Given the description of an element on the screen output the (x, y) to click on. 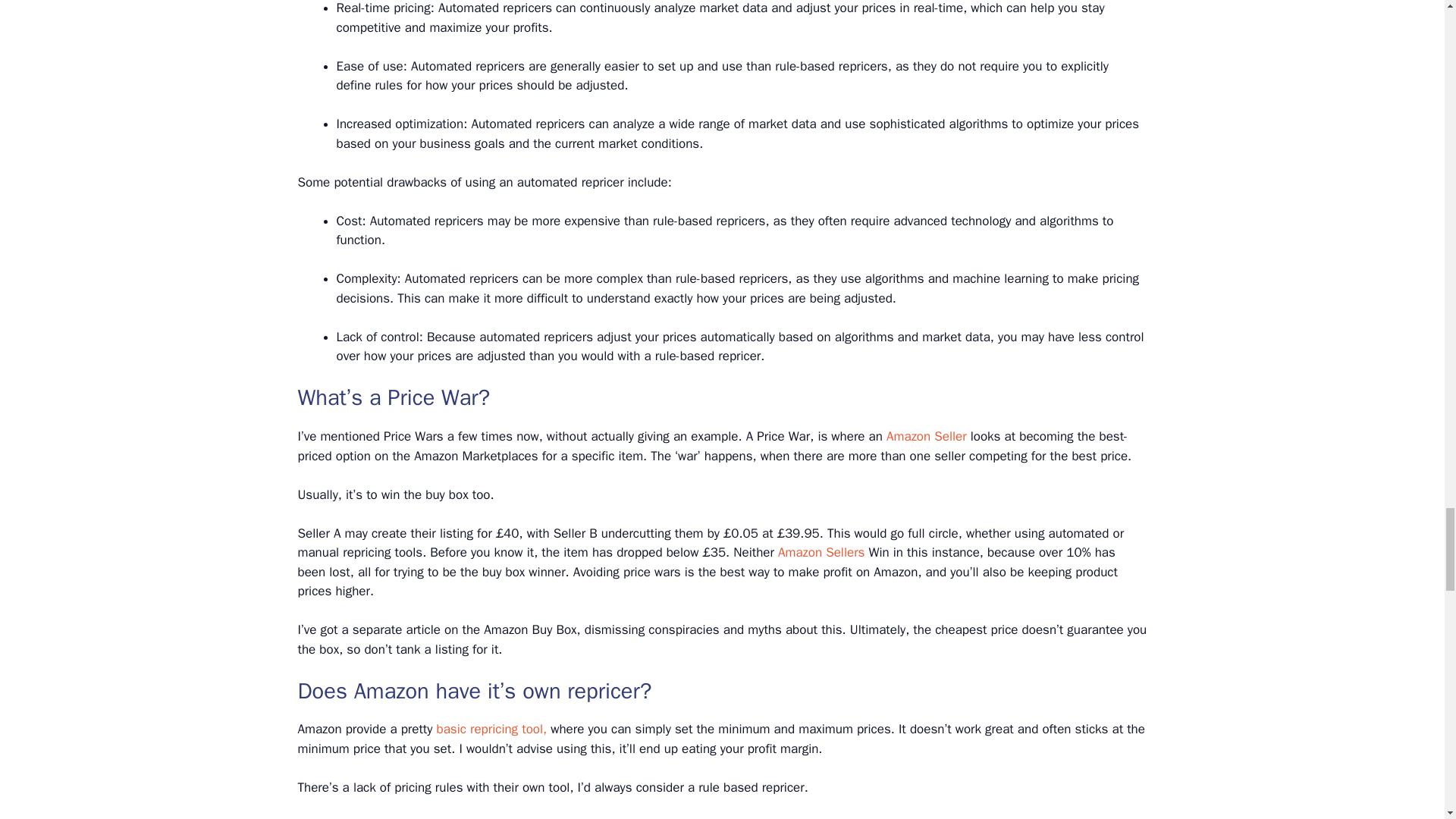
basic repricing tool, (491, 729)
Amazon Sellers (820, 552)
Amazon Seller (926, 436)
